Given the description of an element on the screen output the (x, y) to click on. 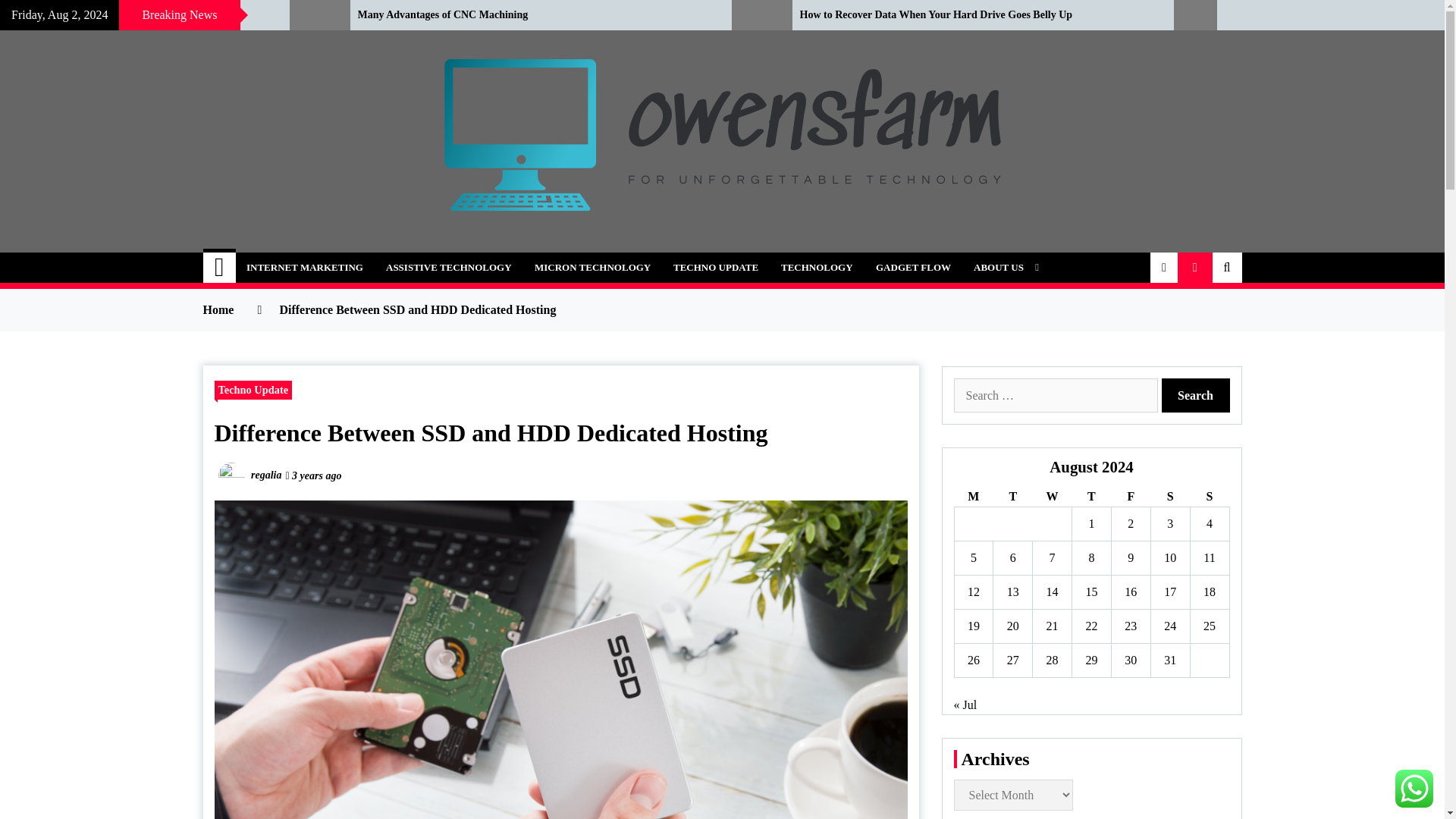
Search (1195, 395)
Home (219, 267)
Search (1195, 395)
Saturday (1169, 496)
Monday (972, 496)
Thursday (1091, 496)
Sunday (1208, 496)
Friday (1130, 496)
How to Recover Data When Your Hard Drive Goes Belly Up (974, 15)
Tuesday (1012, 496)
Wednesday (1051, 496)
Many Advantages of CNC Machining (533, 15)
